Given the description of an element on the screen output the (x, y) to click on. 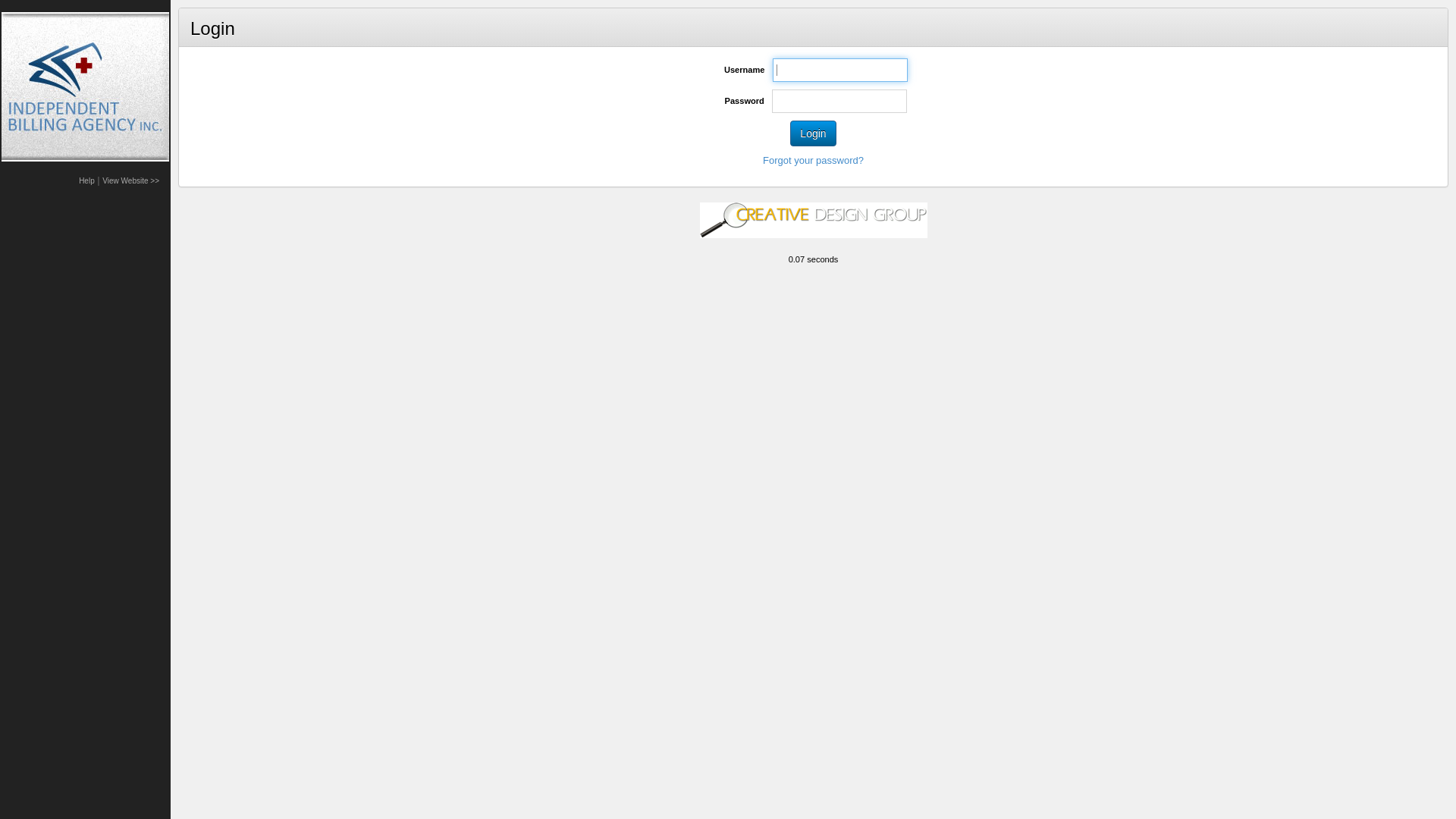
View Website >> Element type: text (130, 180)
Login Element type: text (812, 133)
Forgot your password? Element type: text (812, 160)
Help Element type: text (86, 180)
